Given the description of an element on the screen output the (x, y) to click on. 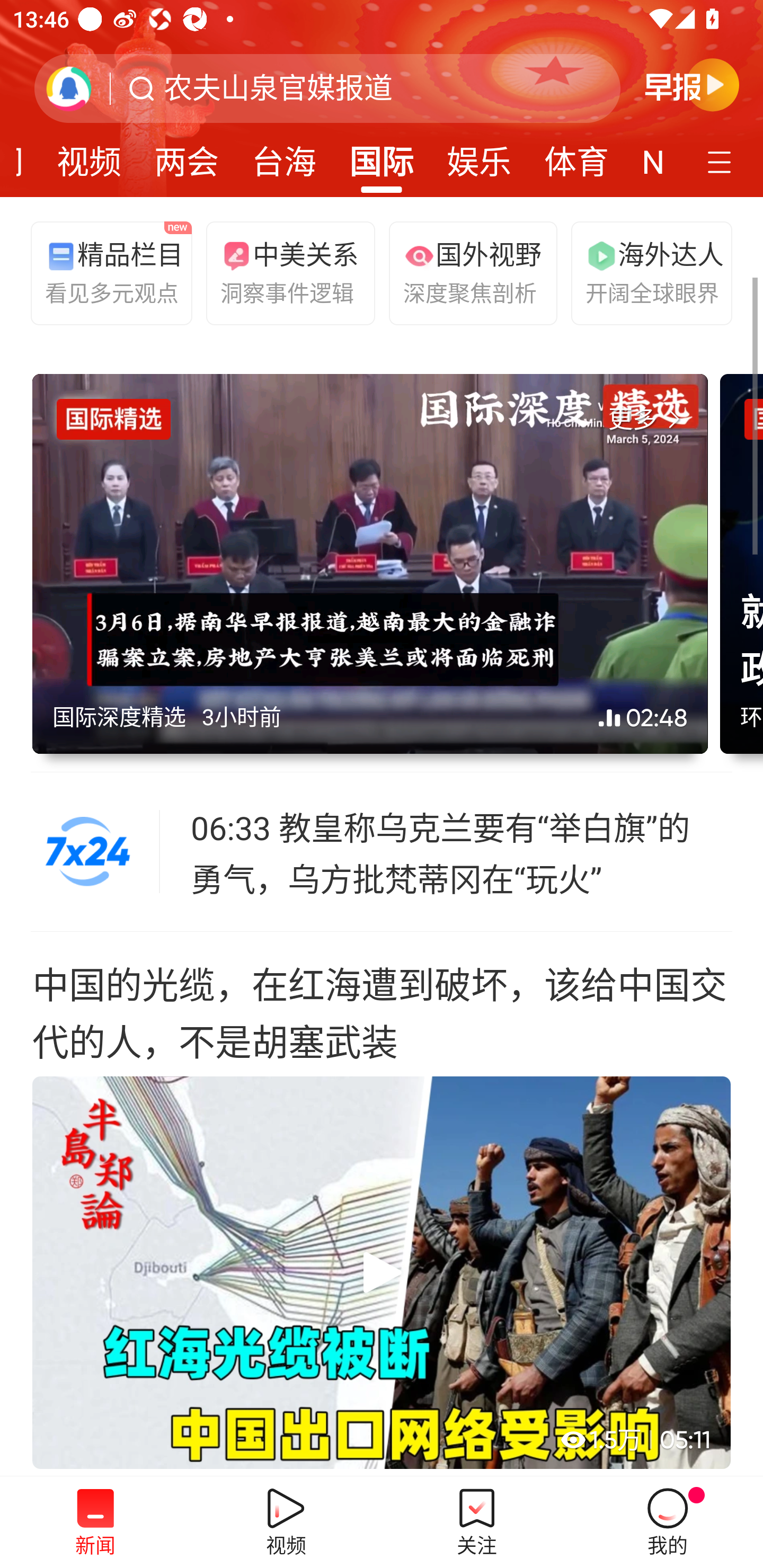
早晚报 (691, 84)
刷新 (68, 88)
农夫山泉官媒报道 (278, 88)
视频 (89, 155)
两会 (186, 155)
台海 (283, 155)
国际 (381, 155)
娱乐 (478, 155)
体育 (575, 155)
 定制频道 (721, 160)
精品栏目 看见多元观点 (106, 272)
中美关系 洞察事件逻辑 (282, 272)
国外视野 深度聚焦剖析 (465, 272)
海外达人 开阔全球眼界 (647, 272)
更多  (648, 419)
06:33 教皇称乌克兰要有“举白旗”的勇气，乌方批梵蒂冈在“玩火” (461, 852)
中国的光缆，在红海遭到破坏，该给中国交代的人，不是胡塞武装  1.5万 05:11 (381, 1204)
